Given the description of an element on the screen output the (x, y) to click on. 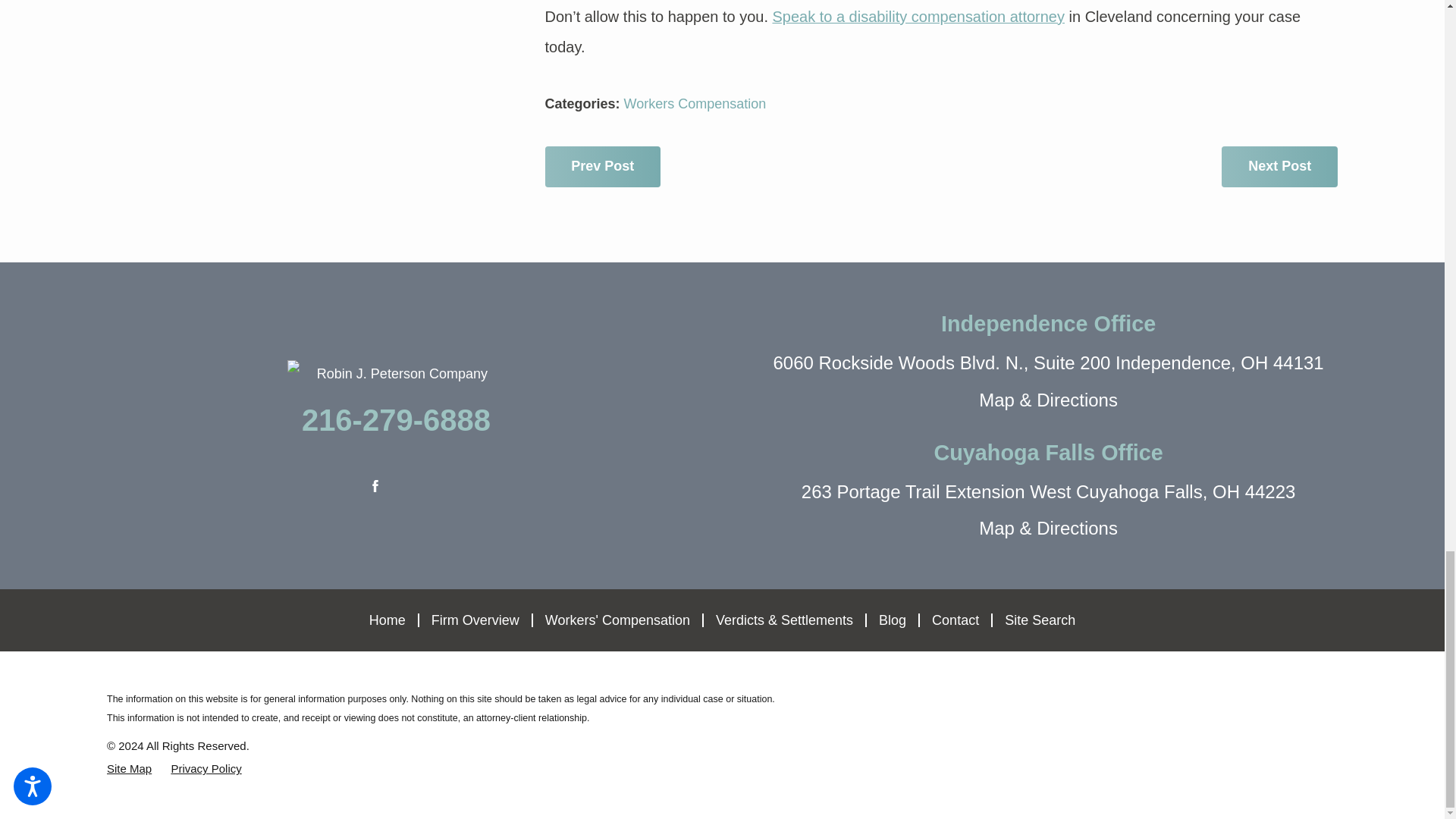
Google Business Profile (416, 485)
Facebook (375, 485)
Robin J. Peterson Company (395, 373)
